Given the description of an element on the screen output the (x, y) to click on. 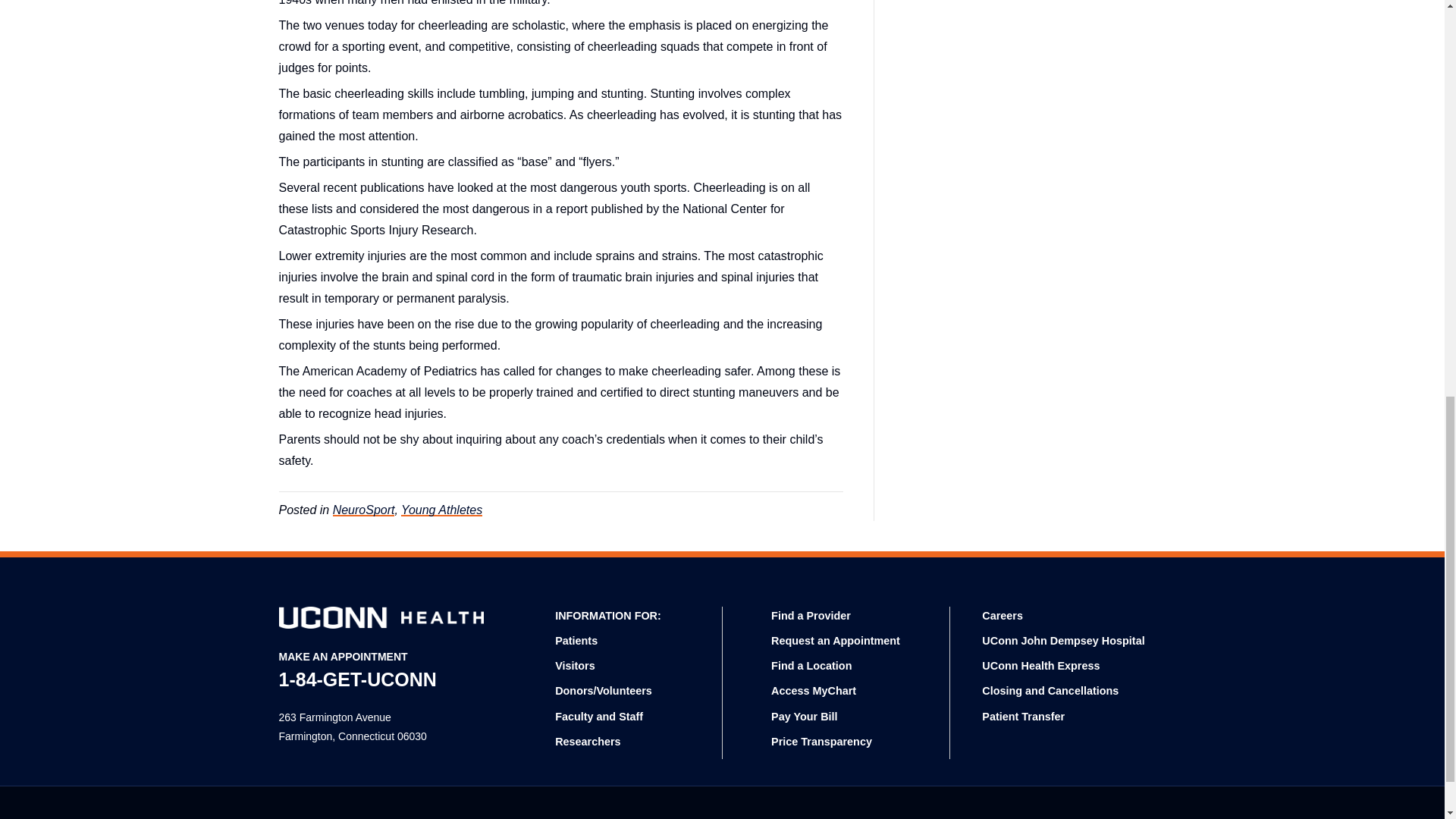
Access MyChart (813, 690)
Find a Provider (810, 615)
Request an Appointment (835, 640)
NeuroSport (363, 509)
Researchers (587, 741)
Young Athletes (441, 509)
Visitors (574, 665)
Find a Location (811, 665)
Faculty and Staff (598, 715)
Patients (575, 640)
